Given the description of an element on the screen output the (x, y) to click on. 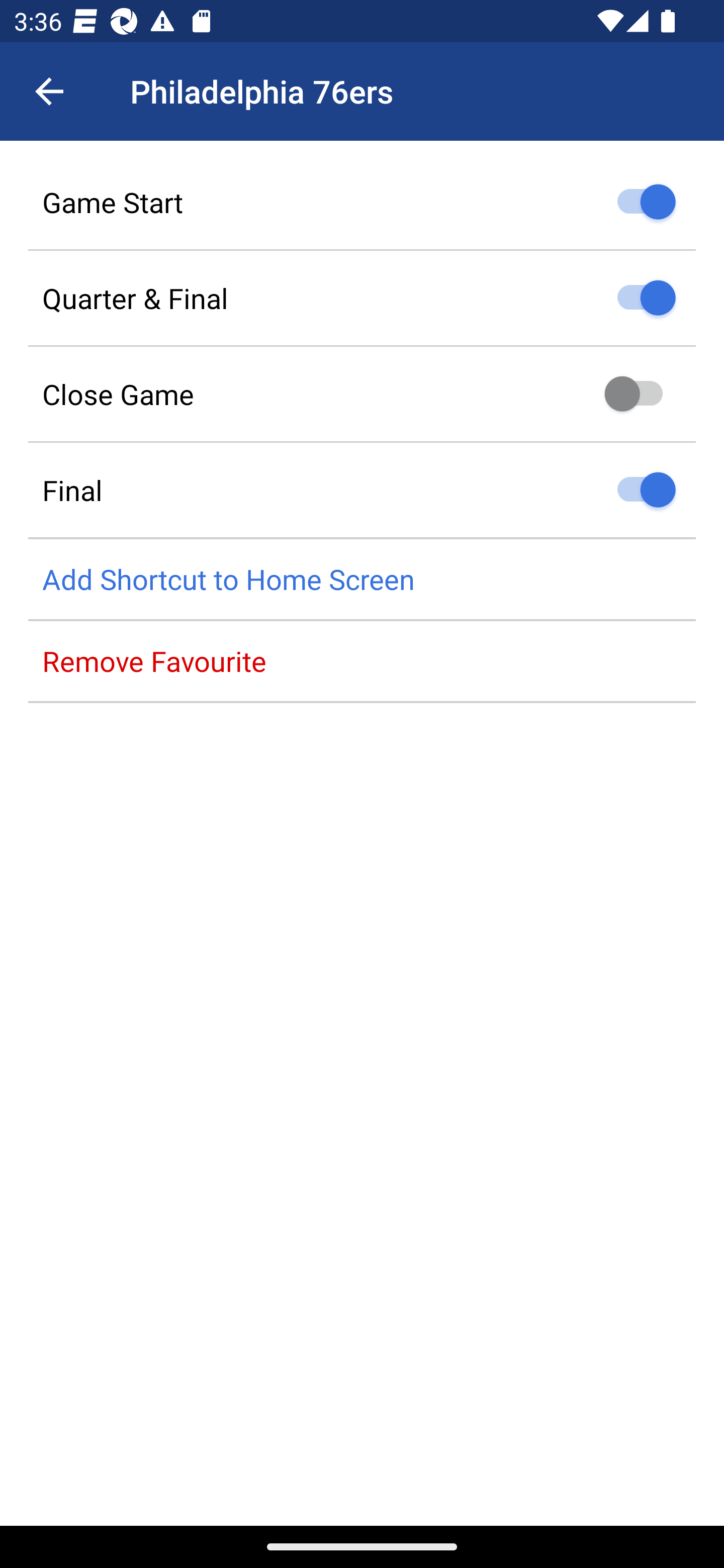
Navigate up (49, 91)
Add Shortcut to Home Screen (362, 579)
Remove Favourite (362, 661)
